Given the description of an element on the screen output the (x, y) to click on. 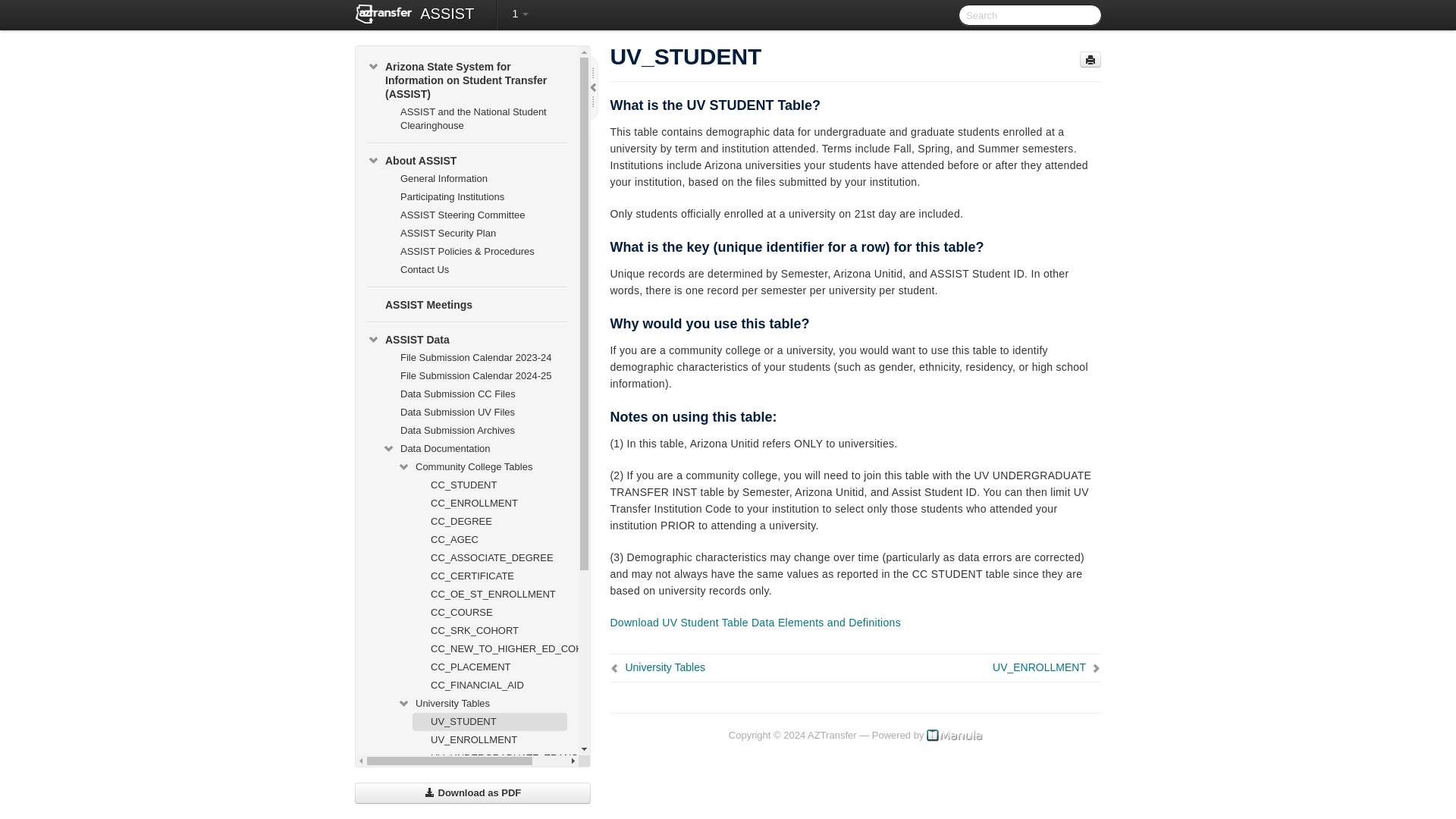
ASSIST (446, 15)
Manula.com (954, 735)
Print page (1090, 59)
1 (519, 14)
